Given the description of an element on the screen output the (x, y) to click on. 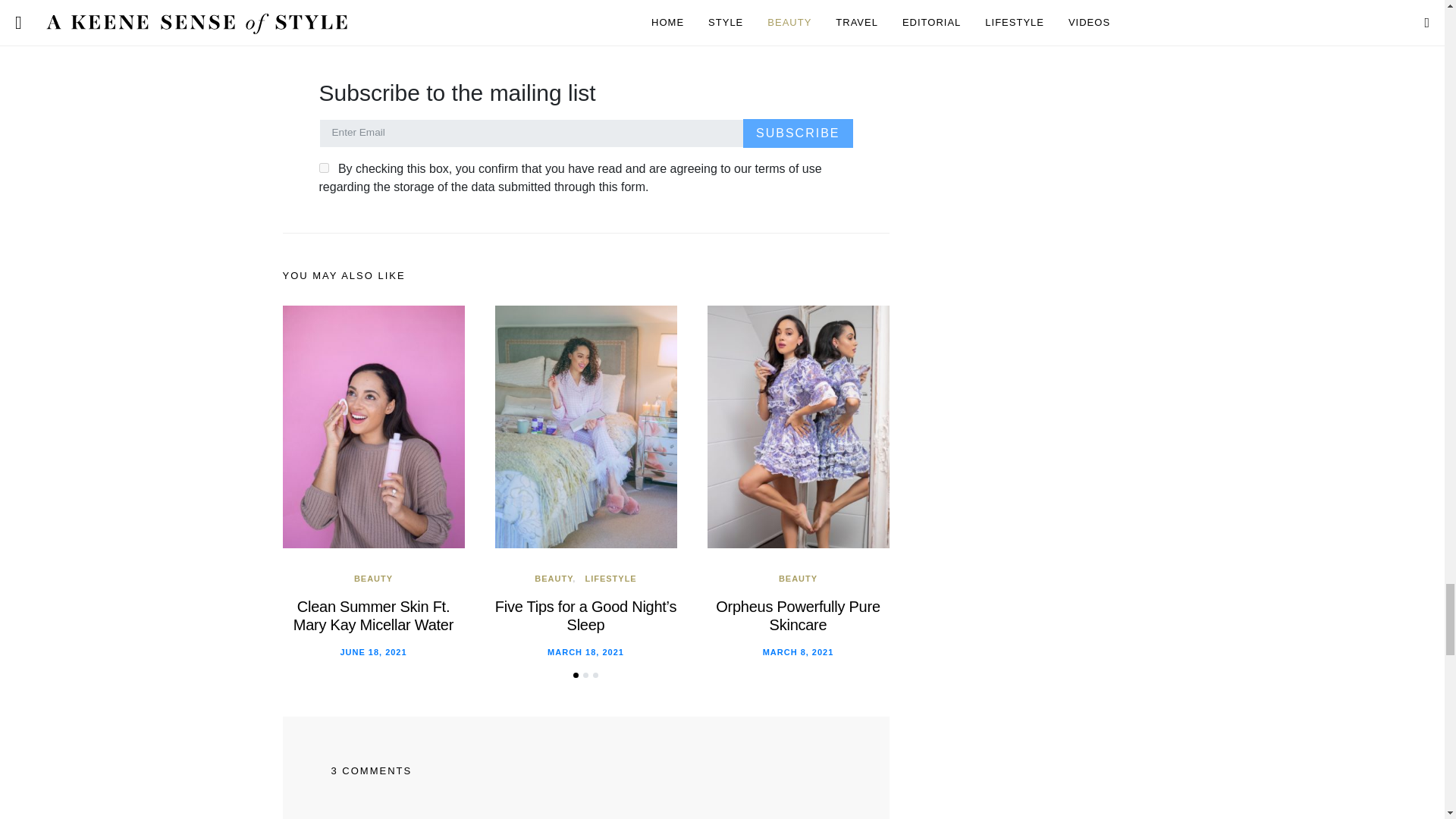
on (323, 167)
